Given the description of an element on the screen output the (x, y) to click on. 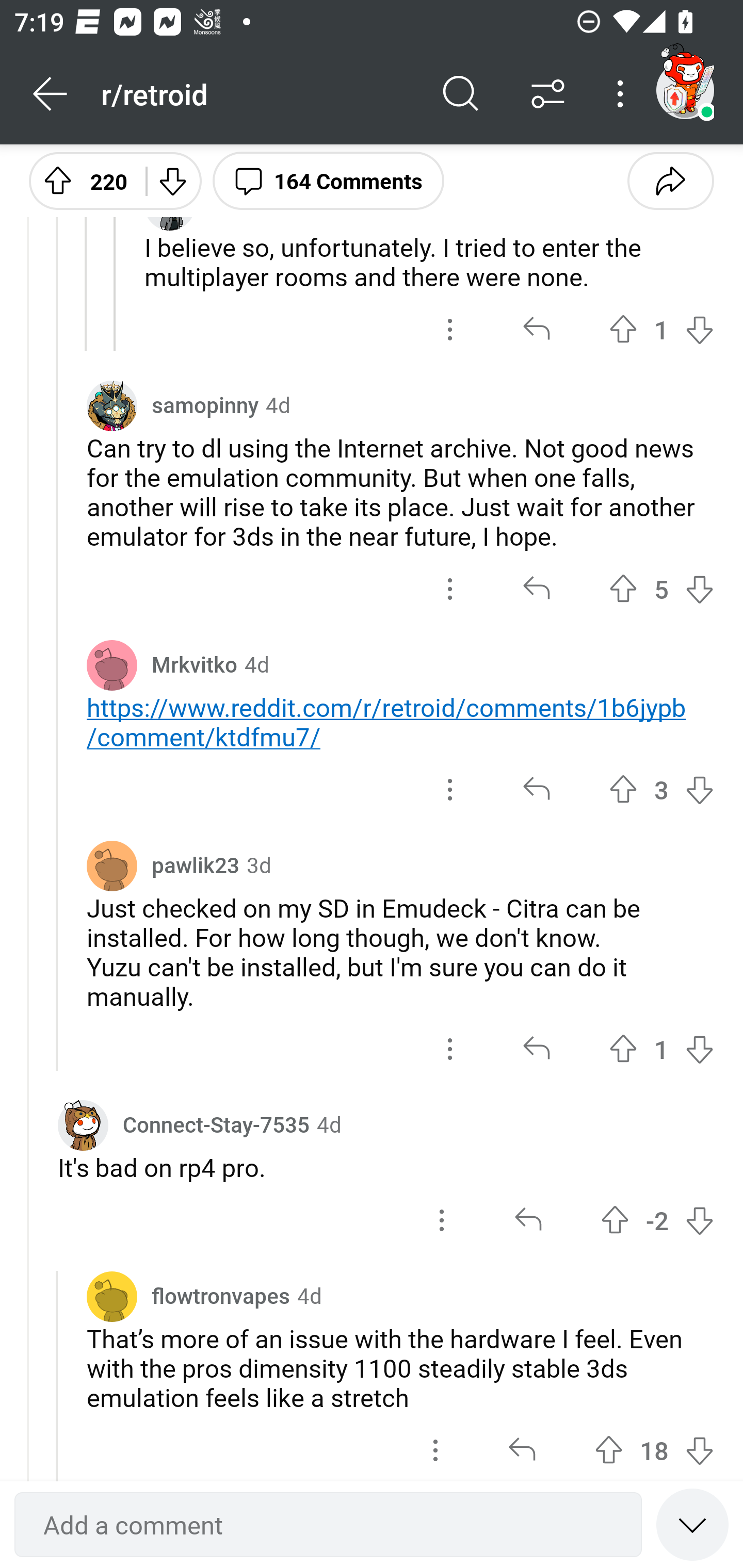
Back (50, 93)
TestAppium002 account (685, 90)
Search comments (460, 93)
Sort comments (547, 93)
More options (623, 93)
r/retroid (259, 92)
Upvote 220 (79, 180)
Downvote (171, 180)
164 Comments (328, 180)
Share (670, 180)
options (449, 329)
Upvote 1 1 vote Downvote (661, 329)
Custom avatar (111, 406)
options (449, 589)
Upvote 5 5 votes Downvote (661, 589)
Avatar (111, 664)
options (449, 790)
Upvote 3 3 votes Downvote (661, 790)
Avatar (111, 865)
options (449, 1048)
Upvote 1 1 vote Downvote (661, 1048)
Custom avatar (82, 1125)
It's bad on rp4 pro. (385, 1166)
options (441, 1219)
Upvote -2 -2 votes Downvote (657, 1219)
Avatar (111, 1296)
options (435, 1447)
Upvote 18 18 votes Downvote (654, 1447)
Speed read (692, 1524)
Add a comment (327, 1524)
